Given the description of an element on the screen output the (x, y) to click on. 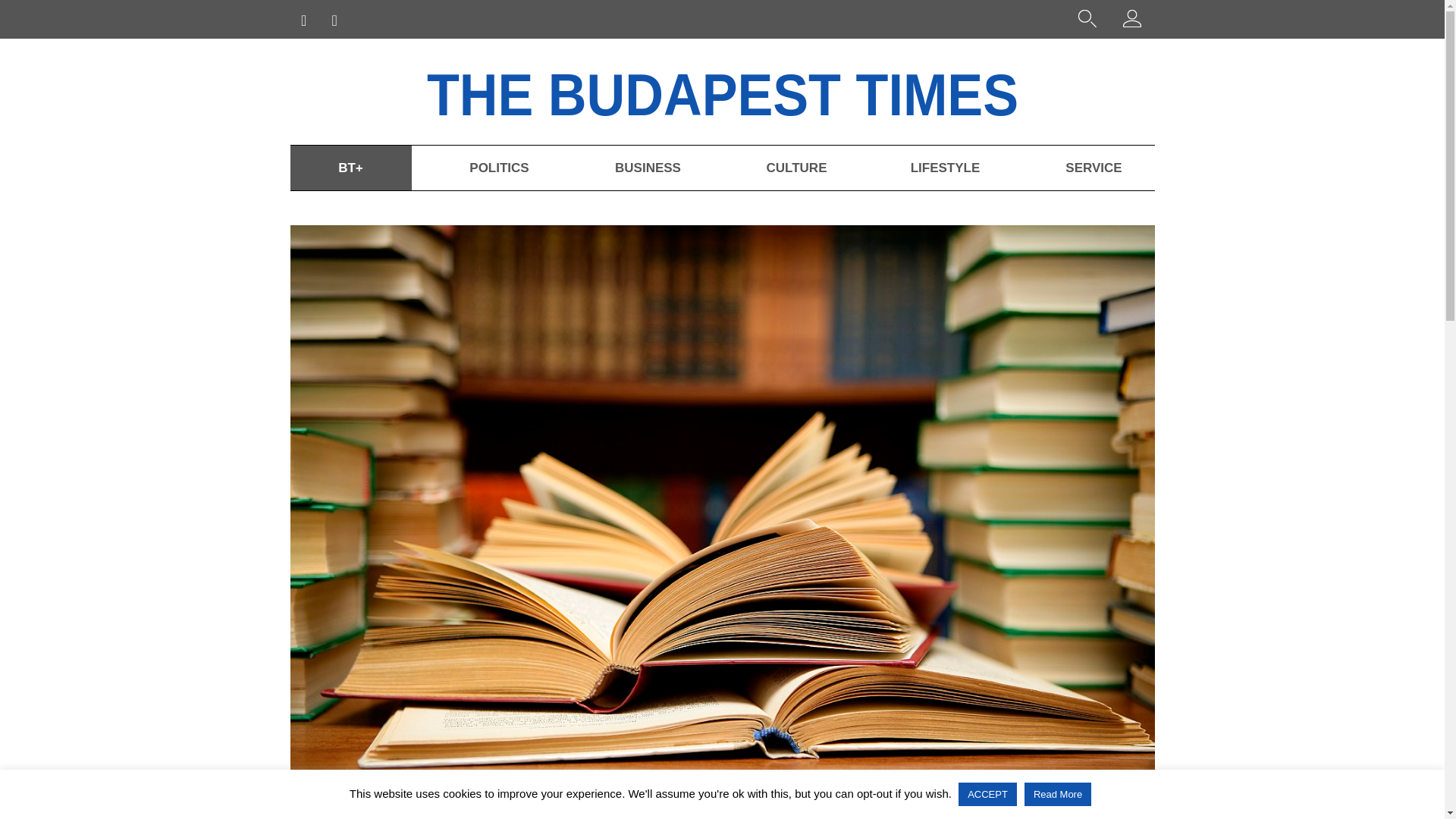
SERVICE (1093, 167)
Login (1131, 20)
BUSINESS (646, 167)
LIFESTYLE (944, 167)
THE BUDAPEST TIMES (765, 91)
CULTURE (796, 167)
POLITICS (498, 167)
